Given the description of an element on the screen output the (x, y) to click on. 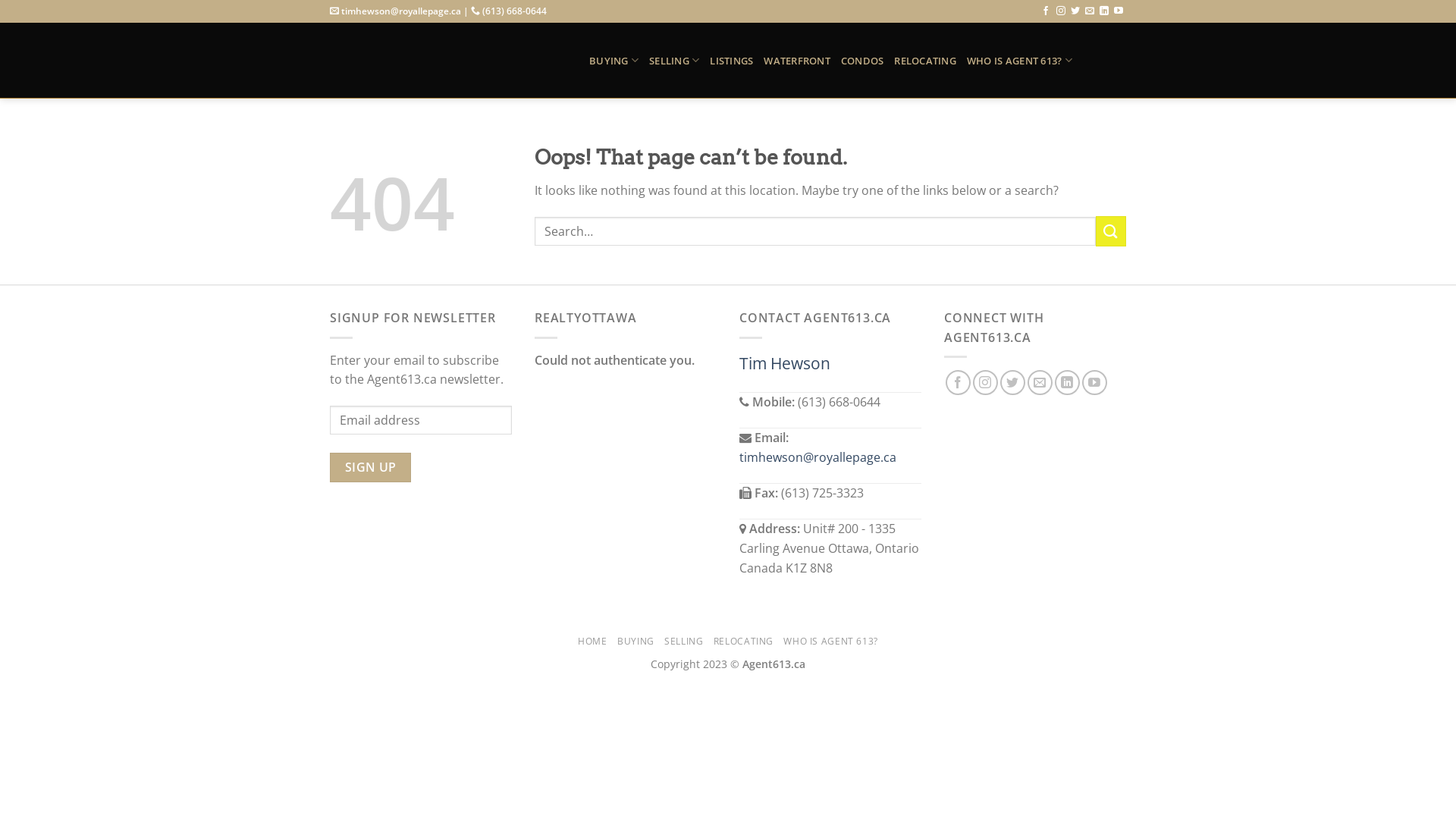
HOME Element type: text (591, 640)
Send us an email Element type: hover (1039, 382)
Follow on Facebook Element type: hover (1045, 11)
CONDOS Element type: text (862, 60)
SELLING Element type: text (674, 60)
SELLING Element type: text (683, 640)
Follow on LinkedIn Element type: hover (1103, 11)
WATERFRONT Element type: text (796, 60)
WHO IS AGENT 613? Element type: text (1019, 60)
WHO IS AGENT 613? Element type: text (830, 640)
Follow on Instagram Element type: hover (984, 382)
BUYING Element type: text (635, 640)
timhewson@royallepage.ca Element type: text (817, 456)
BUYING Element type: text (613, 60)
Sign up Element type: text (370, 467)
Send us an email Element type: hover (1089, 11)
Follow on YouTube Element type: hover (1118, 11)
RELOCATING Element type: text (925, 60)
Tim Hewson Element type: text (784, 362)
Follow on Twitter Element type: hover (1012, 382)
Follow on Twitter Element type: hover (1074, 11)
Follow on LinkedIn Element type: hover (1066, 382)
Follow on Instagram Element type: hover (1060, 11)
RELOCATING Element type: text (743, 640)
Agent 613 - Ottawa's Finest Real Estate Agent Element type: hover (447, 59)
Follow on YouTube Element type: hover (1094, 382)
Follow on Facebook Element type: hover (957, 382)
LISTINGS Element type: text (731, 60)
